Given the description of an element on the screen output the (x, y) to click on. 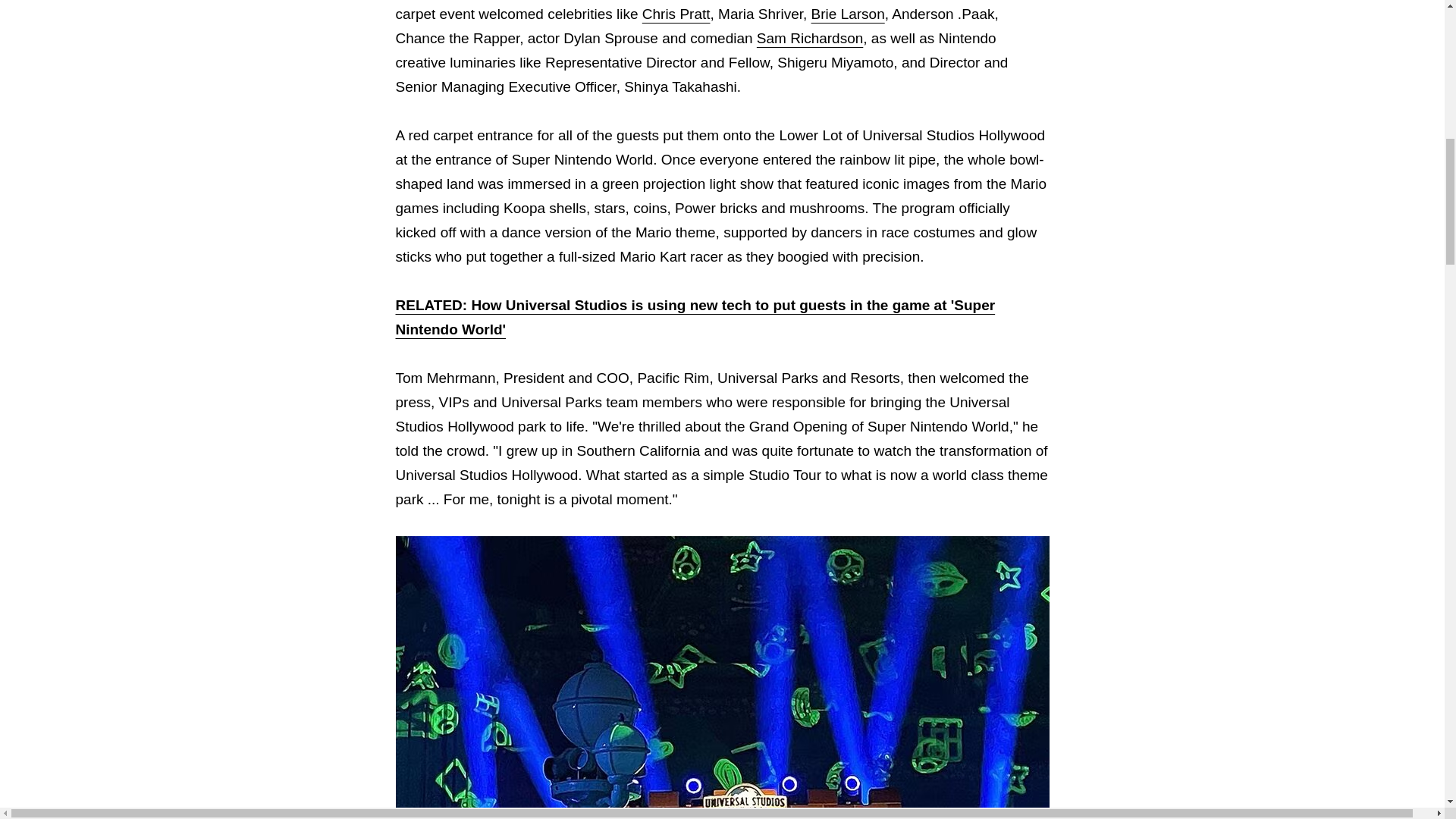
Brie Larson (847, 13)
Sam Richardson (810, 37)
Chris Pratt (676, 13)
